Given the description of an element on the screen output the (x, y) to click on. 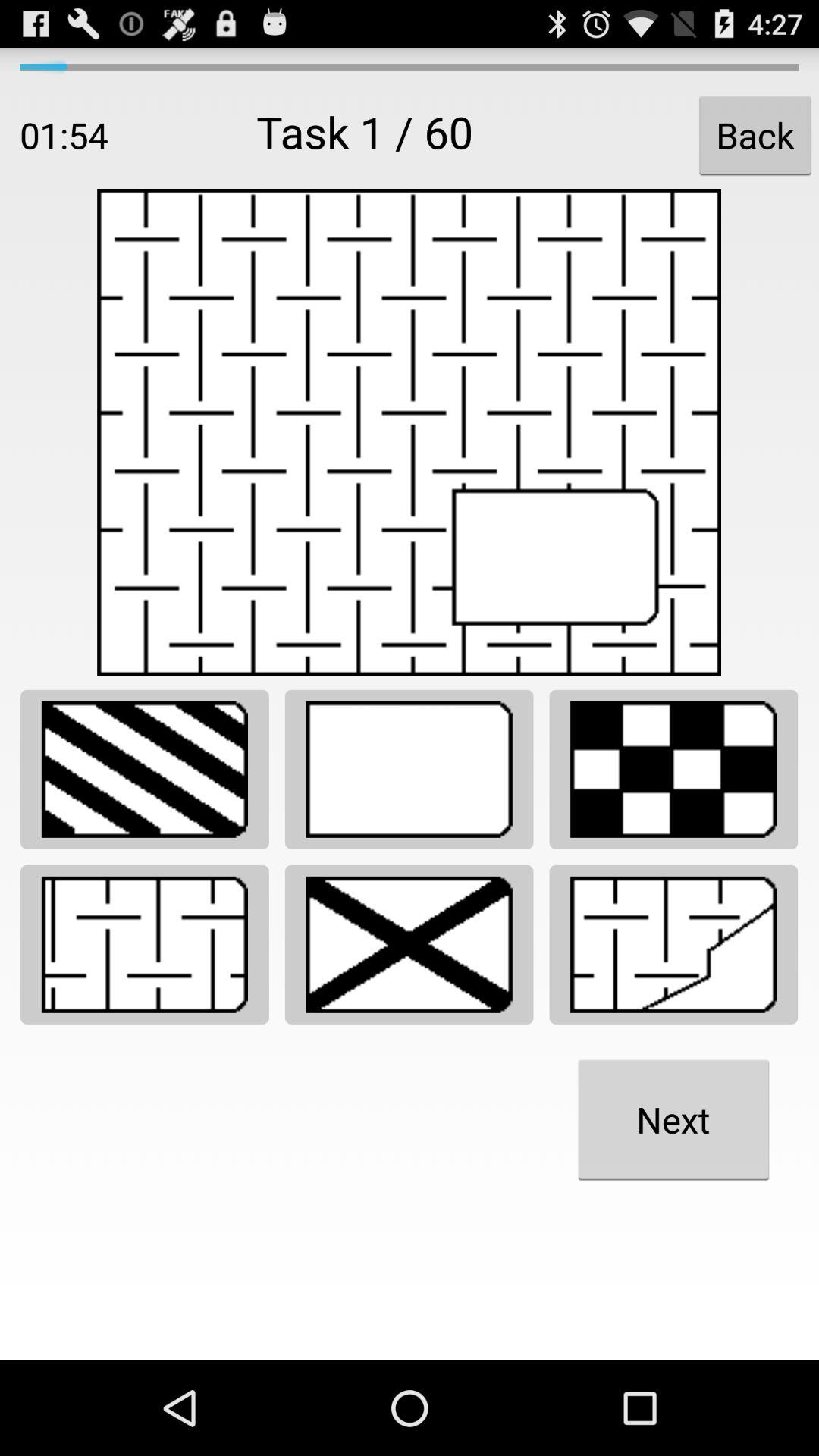
cross shape (408, 944)
